Given the description of an element on the screen output the (x, y) to click on. 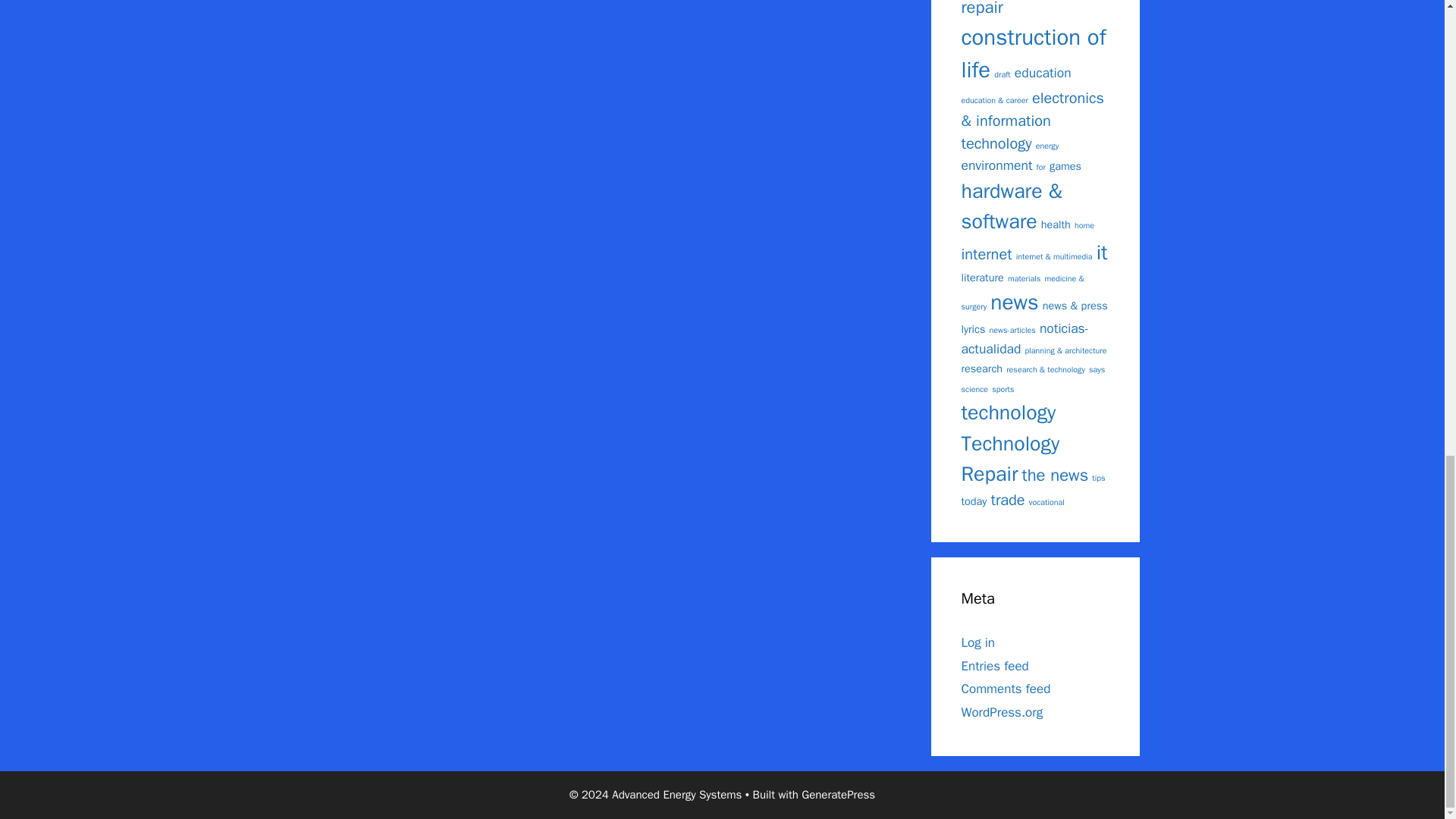
home (1084, 225)
for (1040, 166)
construction and repair (1021, 9)
games (1065, 165)
health (1055, 223)
construction of life (1033, 54)
education (1042, 72)
draft (1002, 74)
energy (1046, 145)
environment (996, 165)
